Given the description of an element on the screen output the (x, y) to click on. 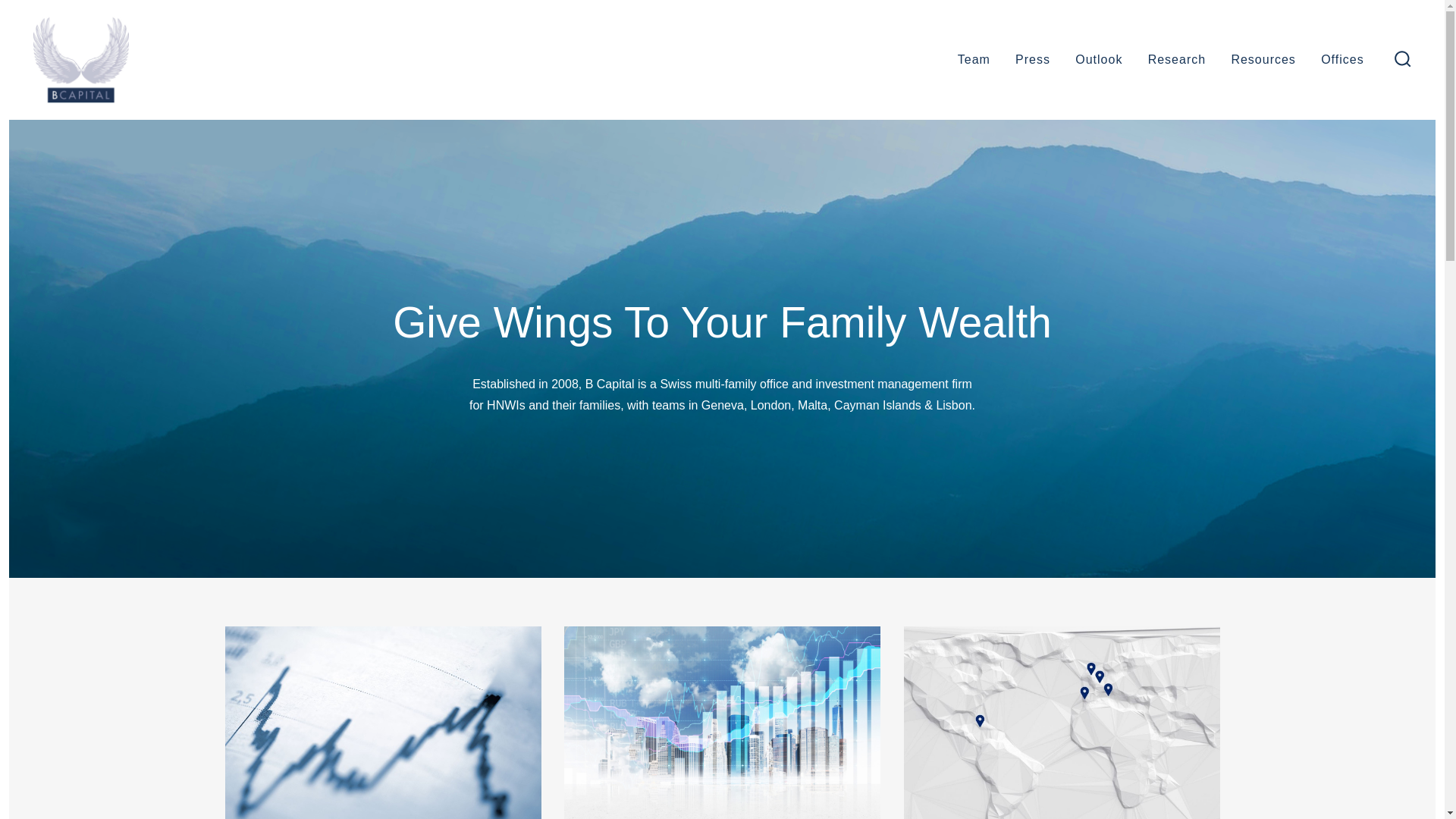
Team Element type: text (973, 60)
Outlook Element type: text (1098, 60)
search toggle Element type: text (1402, 59)
Resources Element type: text (1262, 60)
Research Element type: text (1176, 60)
Offices Element type: text (1342, 60)
Press Element type: text (1032, 60)
